Given the description of an element on the screen output the (x, y) to click on. 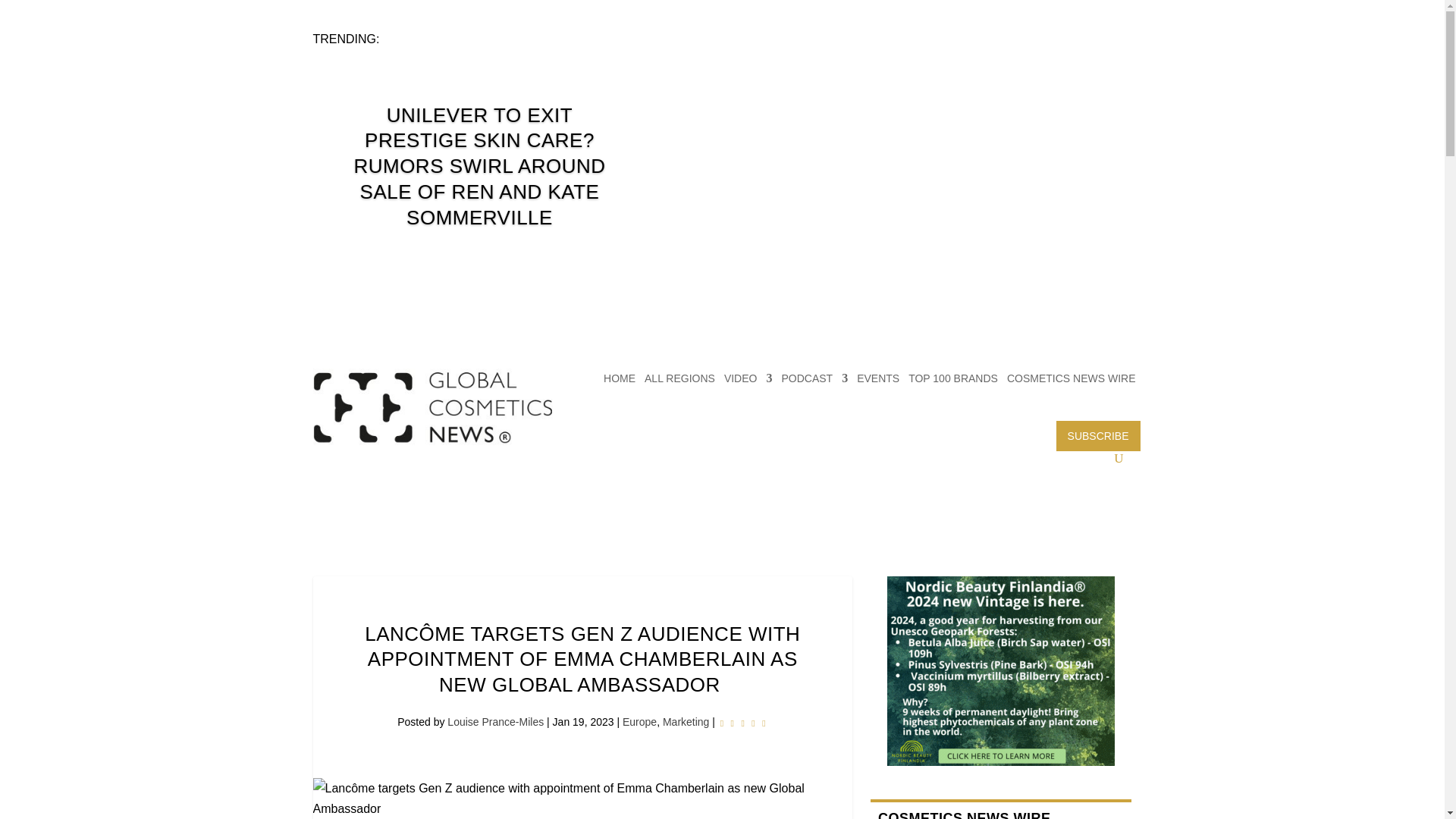
Follow on Instagram (1058, 40)
Posts by Louise Prance-Miles (494, 721)
Follow on Youtube (1118, 40)
Marketing (685, 721)
Follow on X (1028, 40)
ALL REGIONS (679, 378)
Europe (639, 721)
COSMETICS NEWS WIRE (1071, 378)
SUBSCRIBE (1098, 435)
